Given the description of an element on the screen output the (x, y) to click on. 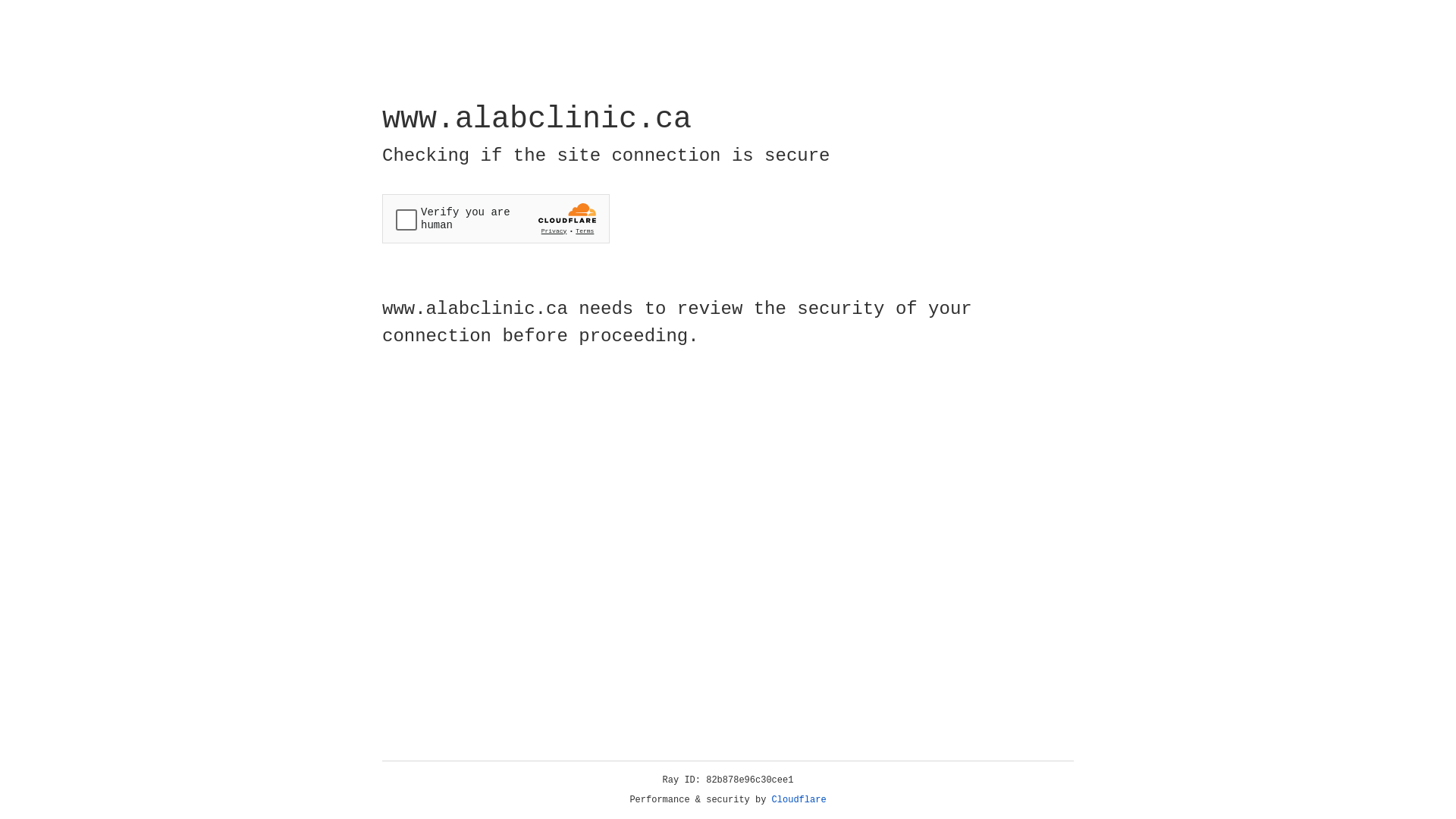
Widget containing a Cloudflare security challenge Element type: hover (495, 218)
Cloudflare Element type: text (798, 799)
